Given the description of an element on the screen output the (x, y) to click on. 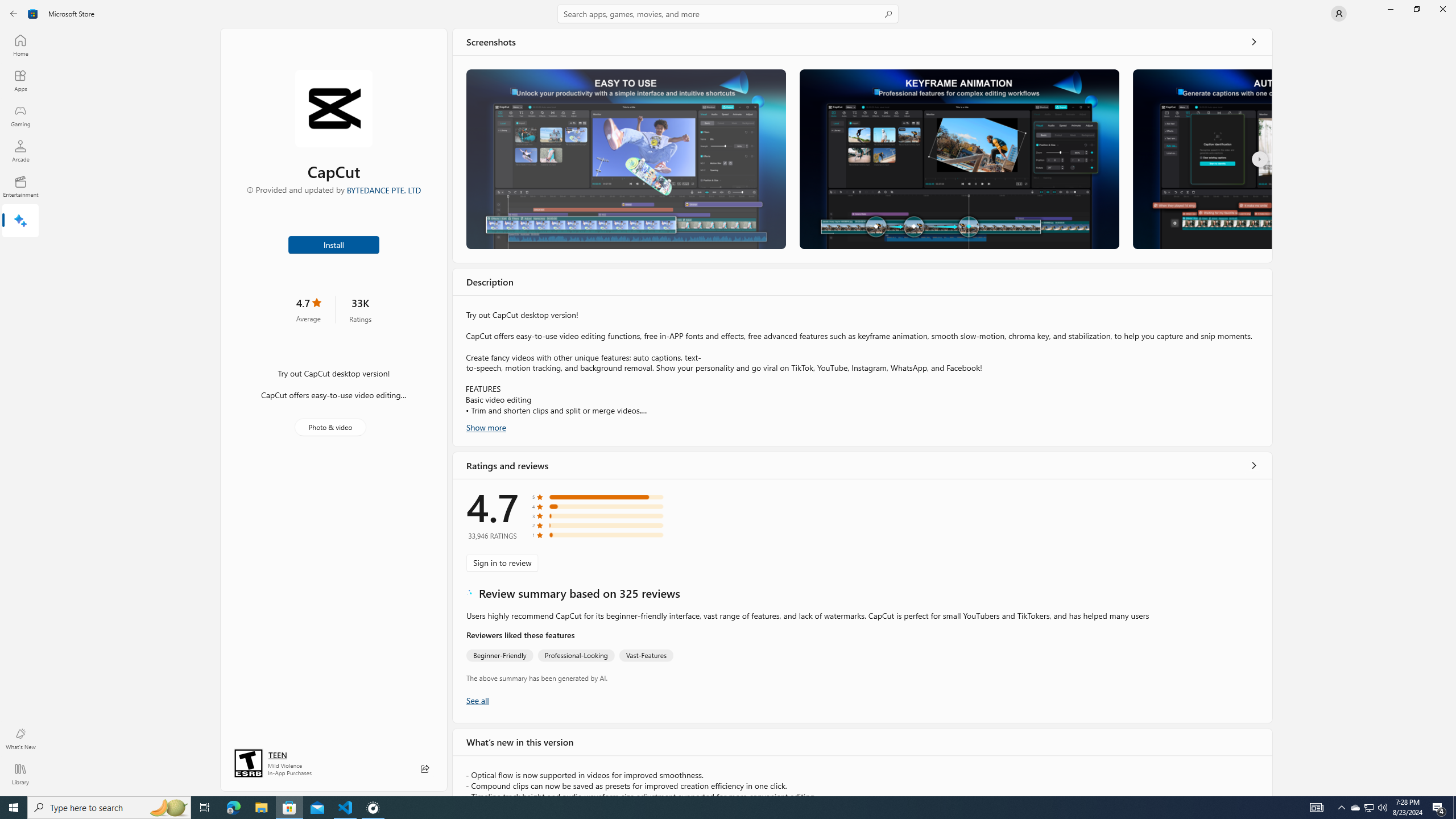
Screenshot 1 (625, 158)
Sign in to review (501, 562)
See all (1253, 41)
Install (334, 244)
Screenshot 3 (1201, 158)
Screenshot 2 (959, 158)
Search (727, 13)
AutomationID: NavigationControl (728, 398)
BYTEDANCE PTE. LTD (383, 189)
Show all ratings and reviews (477, 710)
